Given the description of an element on the screen output the (x, y) to click on. 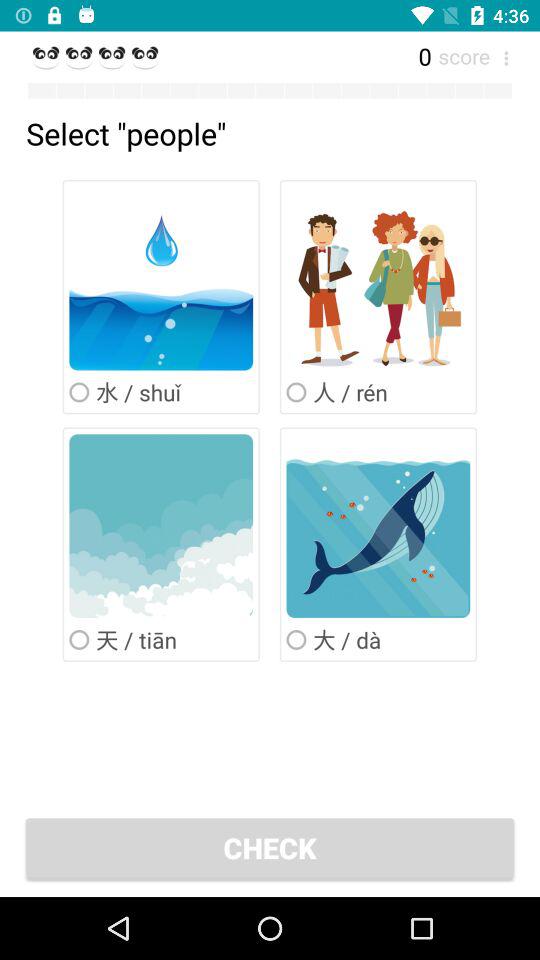
swipe to the check (269, 847)
